Given the description of an element on the screen output the (x, y) to click on. 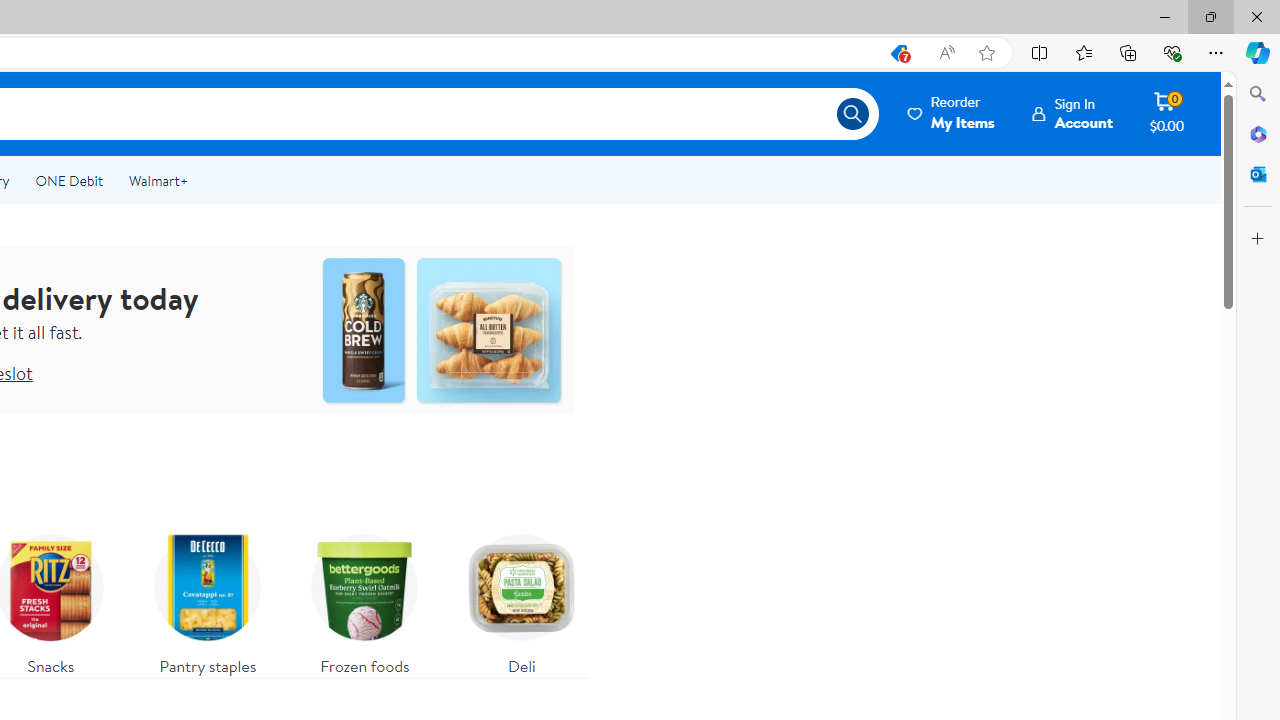
This site has coupons! Shopping in Microsoft Edge, 7 (898, 53)
Deli (521, 599)
